Given the description of an element on the screen output the (x, y) to click on. 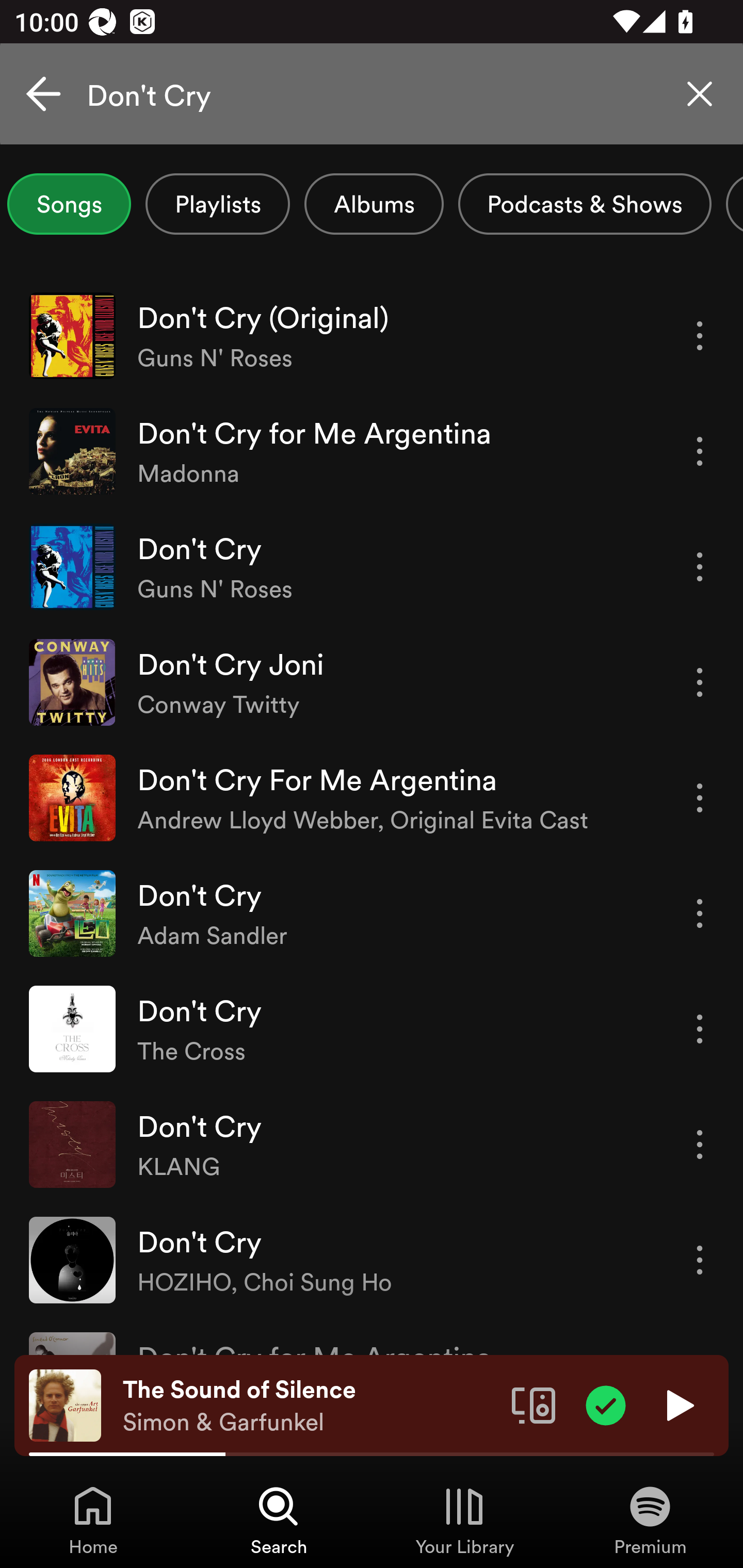
Don't Cry (371, 93)
Cancel (43, 93)
Clear search query (699, 93)
Songs (68, 203)
Playlists (217, 203)
Albums (373, 203)
Podcasts & Shows (584, 203)
More options for song Don't Cry (Original) (699, 336)
More options for song Don't Cry for Me Argentina (699, 450)
More options for song Don't Cry (699, 566)
More options for song Don't Cry Joni (699, 682)
More options for song Don't Cry For Me Argentina (699, 798)
More options for song Don't Cry (699, 913)
More options for song Don't Cry (699, 1029)
Don't Cry KLANG More options for song Don't Cry (371, 1144)
More options for song Don't Cry (699, 1144)
More options for song Don't Cry (699, 1259)
The Sound of Silence Simon & Garfunkel (309, 1405)
The cover art of the currently playing track (64, 1404)
Connect to a device. Opens the devices menu (533, 1404)
Item added (605, 1404)
Play (677, 1404)
Home, Tab 1 of 4 Home Home (92, 1519)
Search, Tab 2 of 4 Search Search (278, 1519)
Your Library, Tab 3 of 4 Your Library Your Library (464, 1519)
Premium, Tab 4 of 4 Premium Premium (650, 1519)
